Given the description of an element on the screen output the (x, y) to click on. 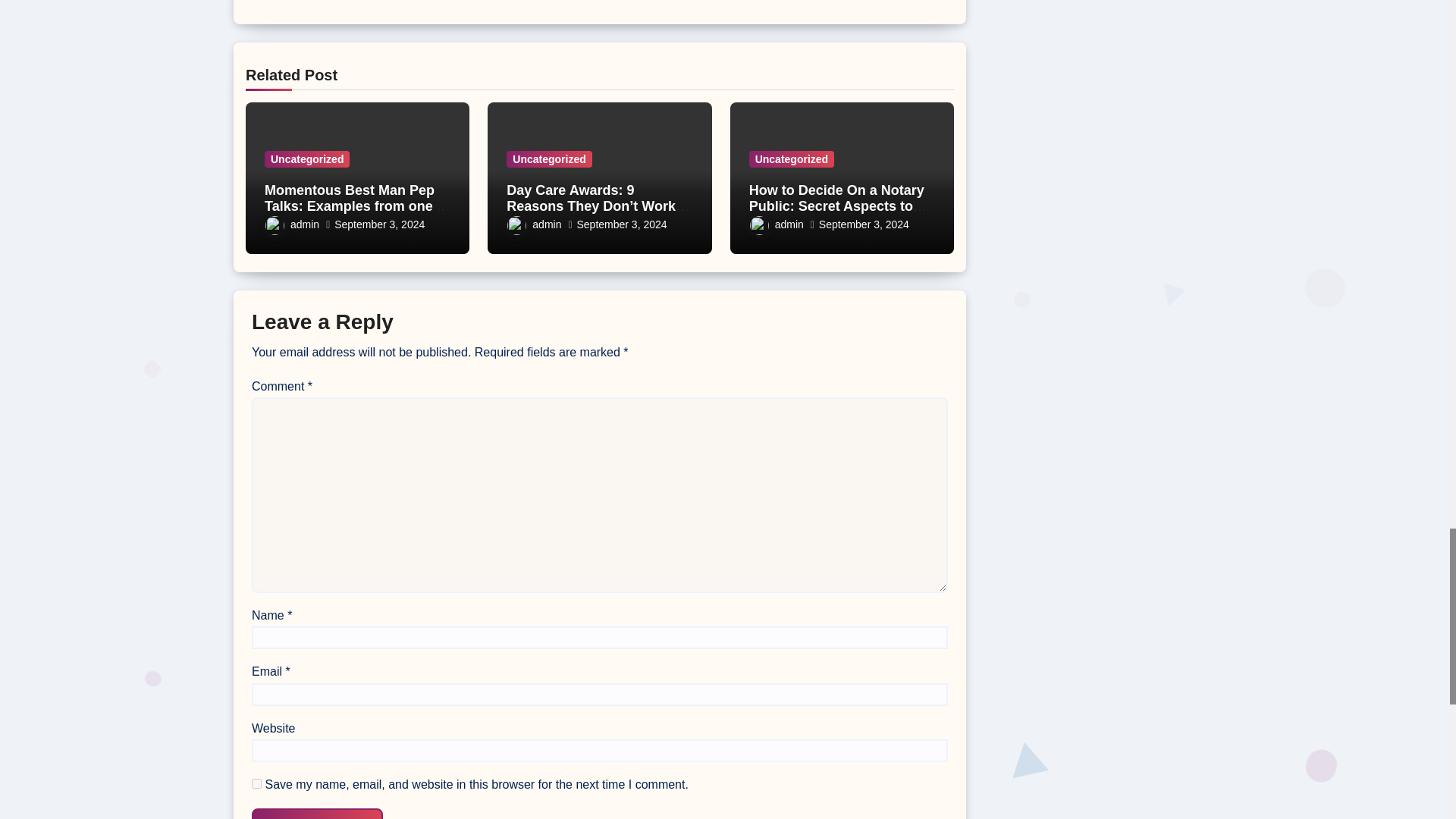
Uncategorized (306, 158)
Post Comment (316, 813)
Uncategorized (548, 158)
yes (256, 783)
admin (291, 224)
September 3, 2024 (379, 224)
